Given the description of an element on the screen output the (x, y) to click on. 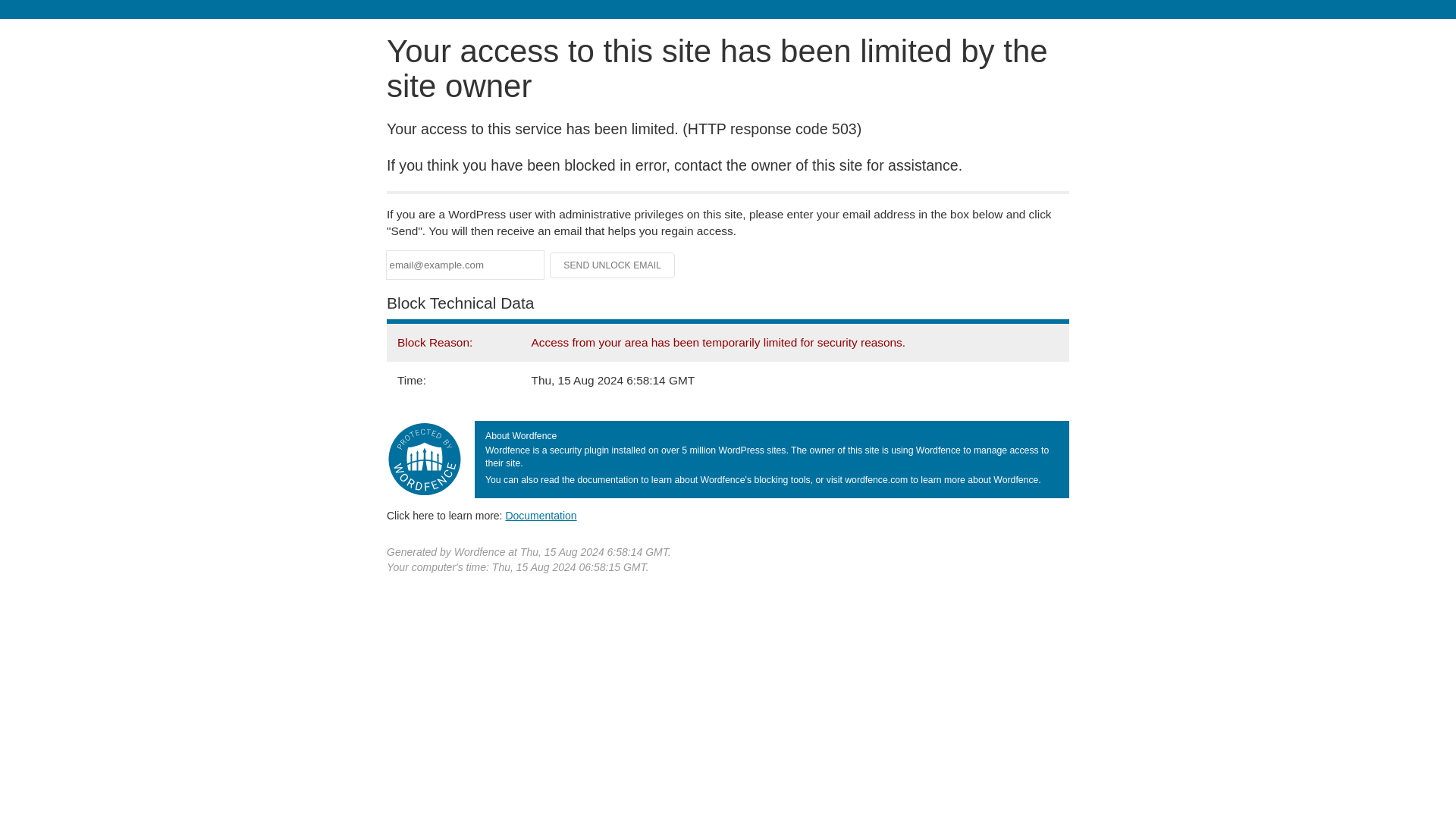
Send Unlock Email (612, 265)
Send Unlock Email (612, 265)
Documentation (540, 515)
